Given the description of an element on the screen output the (x, y) to click on. 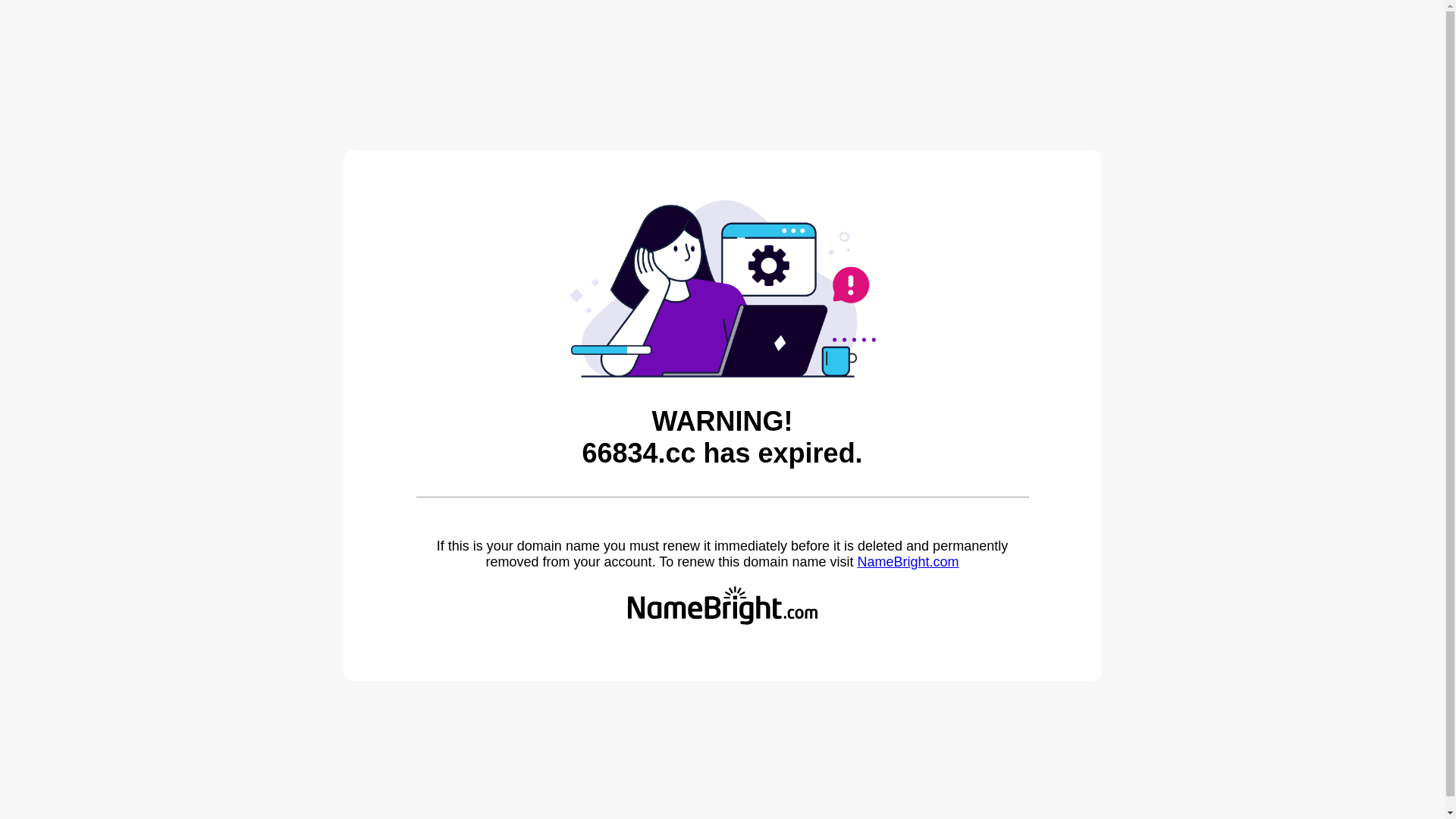
NameBright.com Element type: text (907, 561)
